Given the description of an element on the screen output the (x, y) to click on. 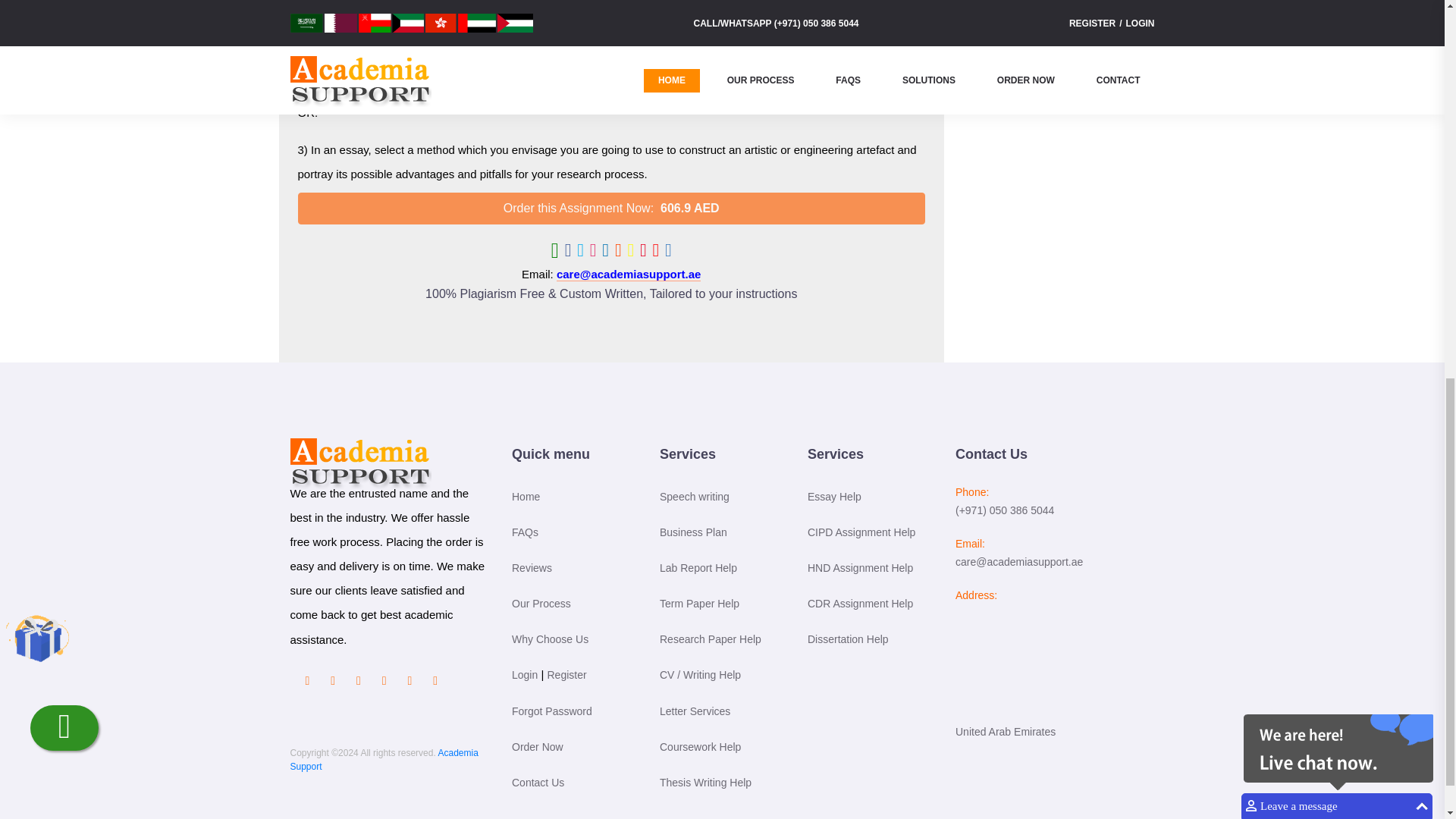
Maximize (1421, 66)
